Given the description of an element on the screen output the (x, y) to click on. 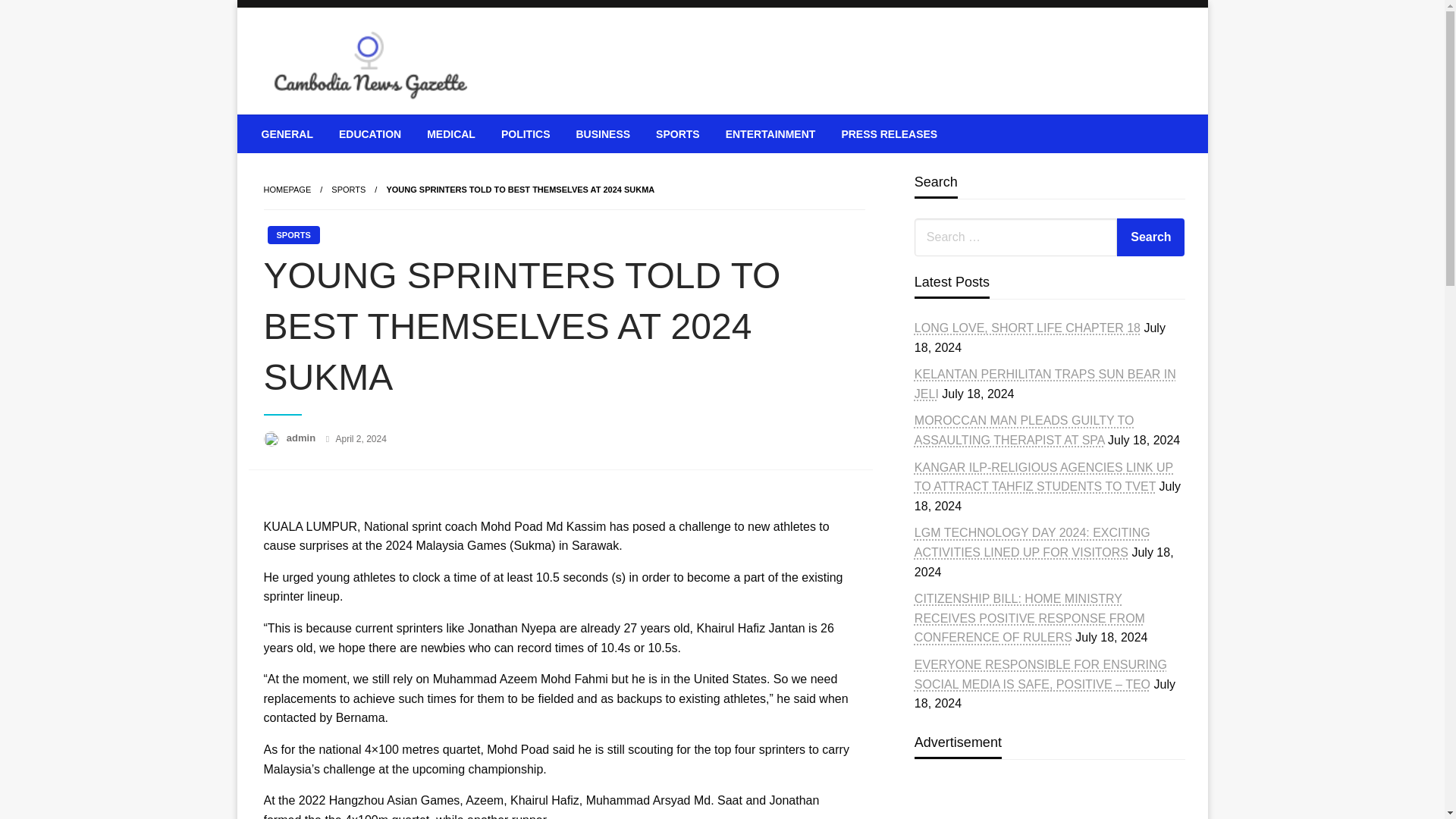
Search (1150, 237)
MOROCCAN MAN PLEADS GUILTY TO ASSAULTING THERAPIST AT SPA (1024, 430)
PRESS RELEASES (889, 134)
POLITICS (525, 134)
SPORTS (678, 134)
SPORTS (292, 235)
LONG LOVE, SHORT LIFE CHAPTER 18 (1027, 327)
Homepage (287, 189)
SPORTS (348, 189)
Search (1150, 237)
ENTERTAINMENT (770, 134)
HOMEPAGE (287, 189)
GENERAL (287, 134)
BUSINESS (602, 134)
Sports (348, 189)
